Given the description of an element on the screen output the (x, y) to click on. 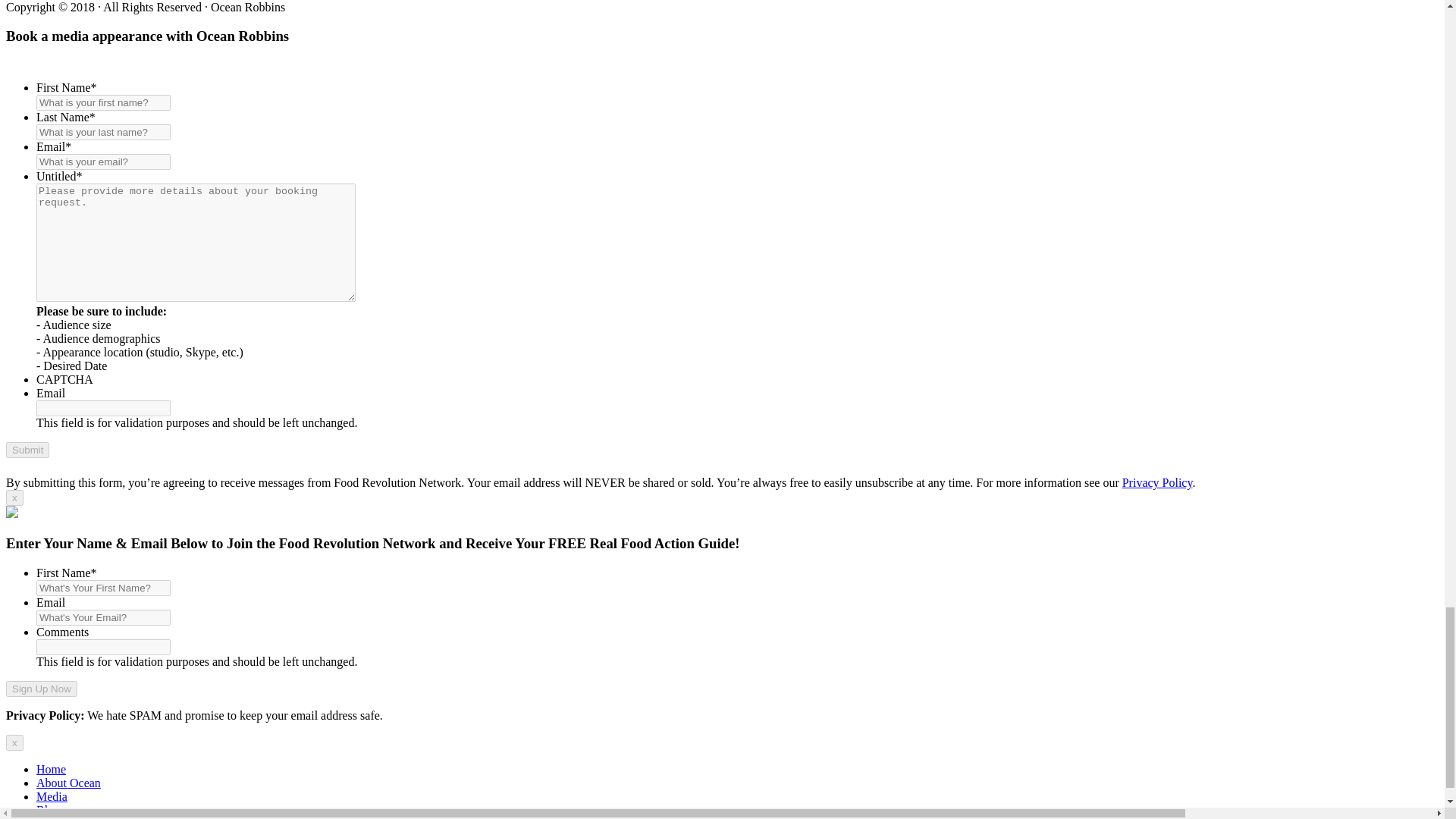
About Ocean (68, 782)
Sign Up Now (41, 688)
Media (51, 796)
Home (50, 768)
x (14, 742)
Submit (27, 449)
Privacy Policy (1157, 481)
Blog (47, 809)
Submit (27, 449)
Sign Up Now (41, 688)
x (14, 497)
